Given the description of an element on the screen output the (x, y) to click on. 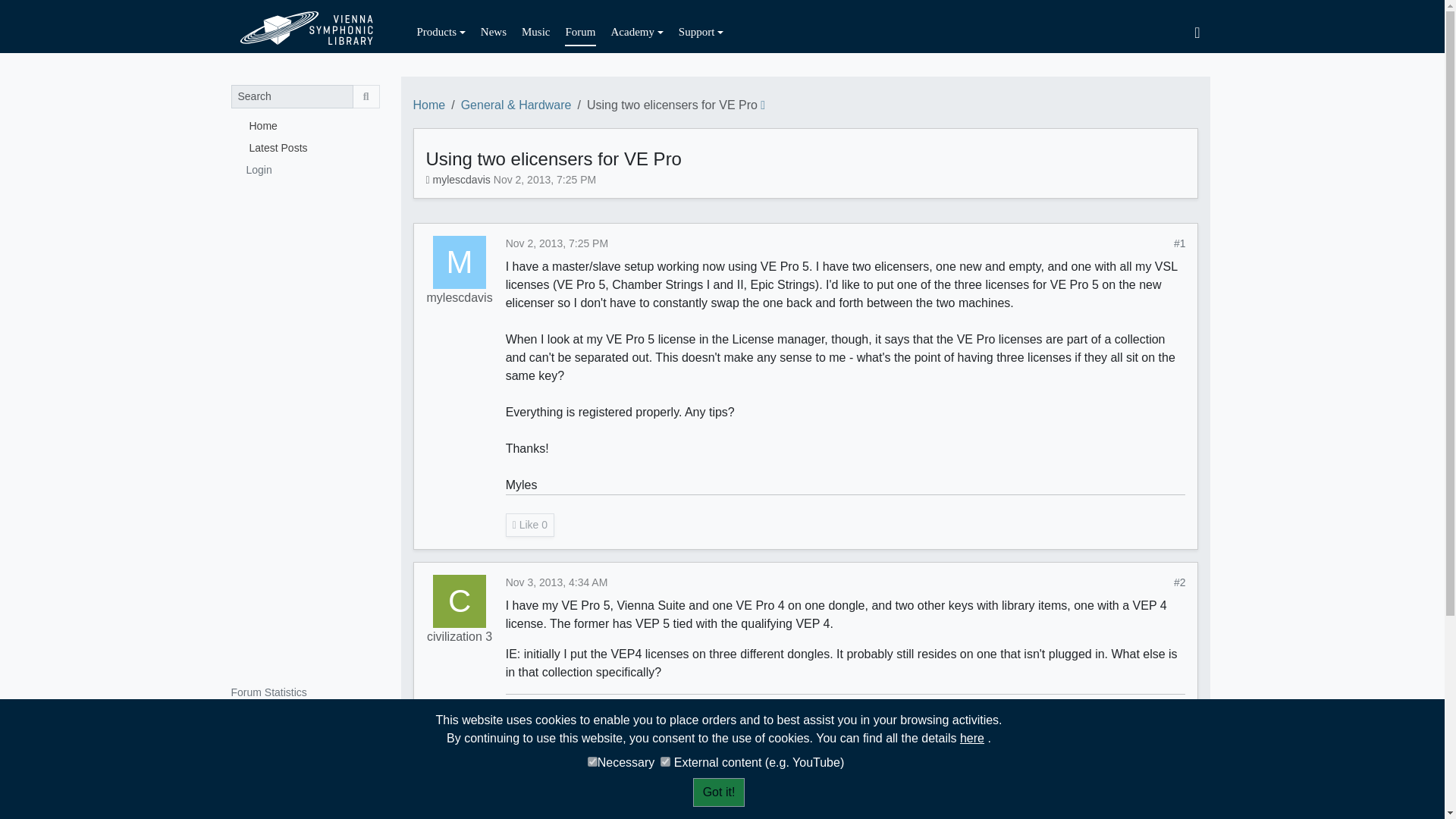
8 (665, 761)
News (493, 32)
4 (592, 761)
Music (535, 32)
Nov 2, 2013, 7:25 PM (556, 243)
civilization 3 (459, 601)
mylescdavis (459, 298)
civilization 3 (459, 637)
Products (441, 32)
Forum (579, 32)
